Given the description of an element on the screen output the (x, y) to click on. 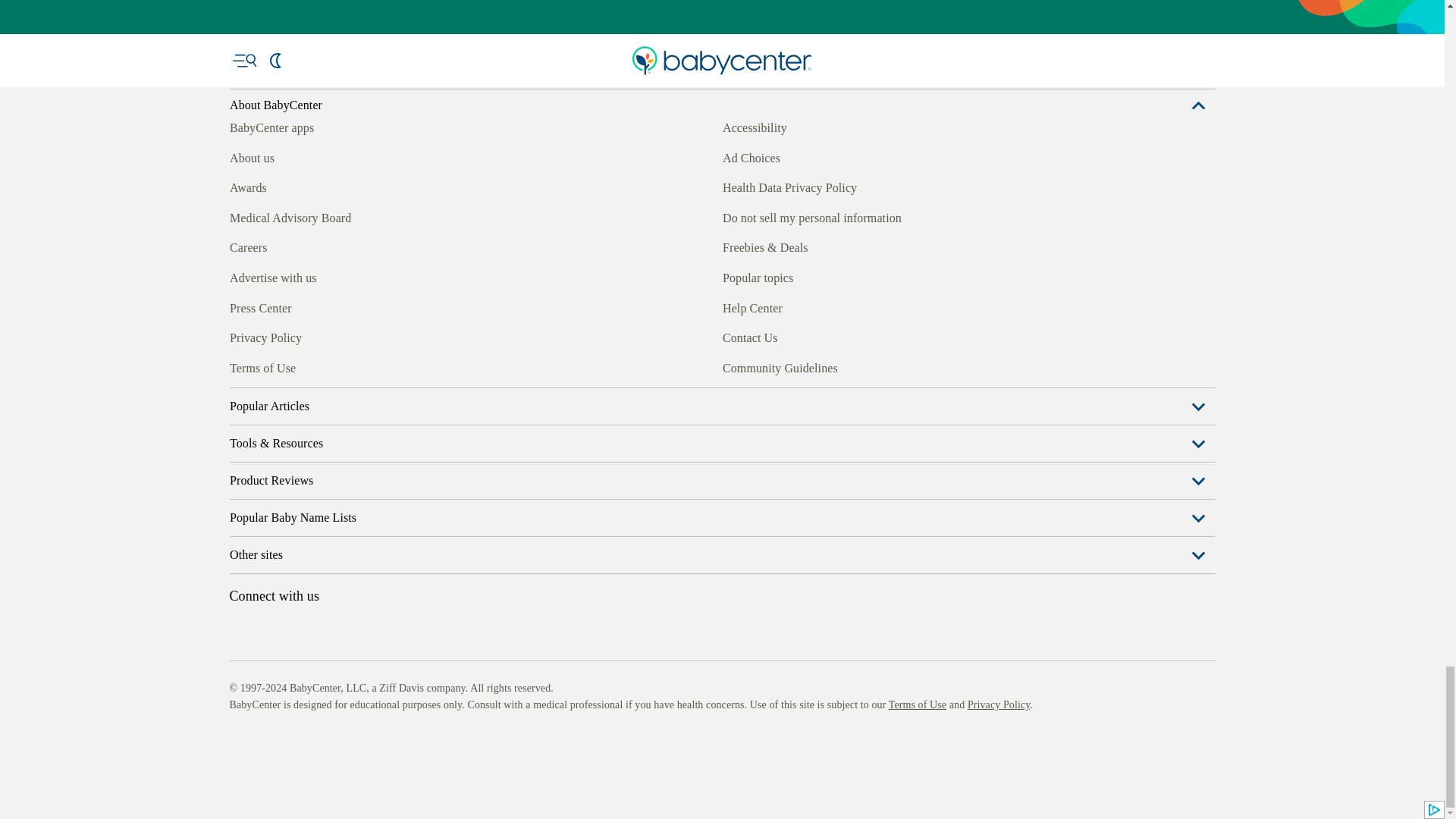
BabyCenter Instagram feed (274, 775)
BabyCenter Pinterest board (309, 775)
BabyCenter Facebook page (239, 775)
BabyCenter YouTube channel (344, 775)
BabyCenter Twitter feed (379, 775)
